Given the description of an element on the screen output the (x, y) to click on. 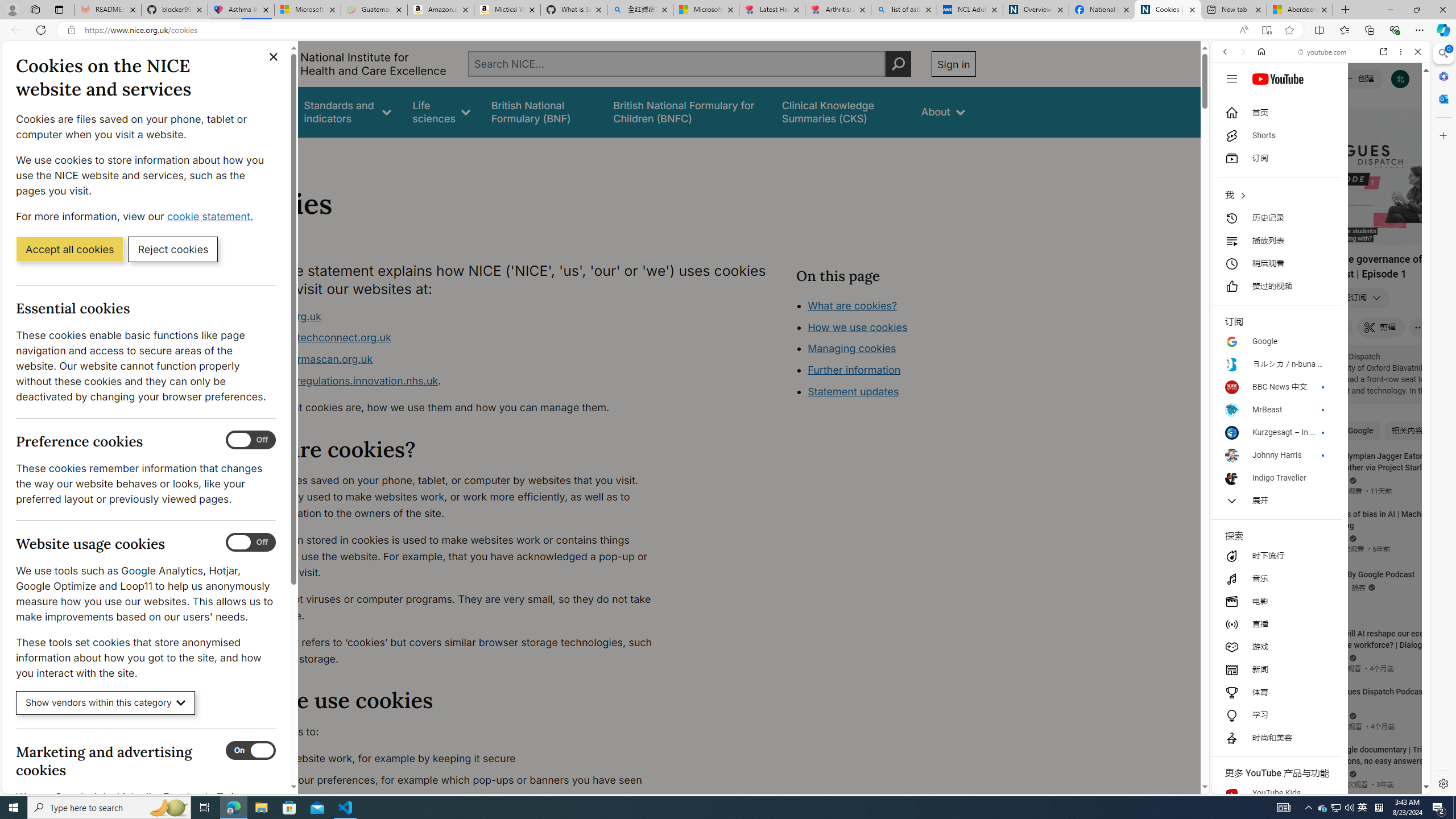
www.ukpharmascan.org.uk (452, 359)
Open link in new tab (1383, 51)
YouTube - YouTube (1315, 560)
Statement updates (853, 391)
WEB   (1230, 130)
Perform search (898, 63)
